Given the description of an element on the screen output the (x, y) to click on. 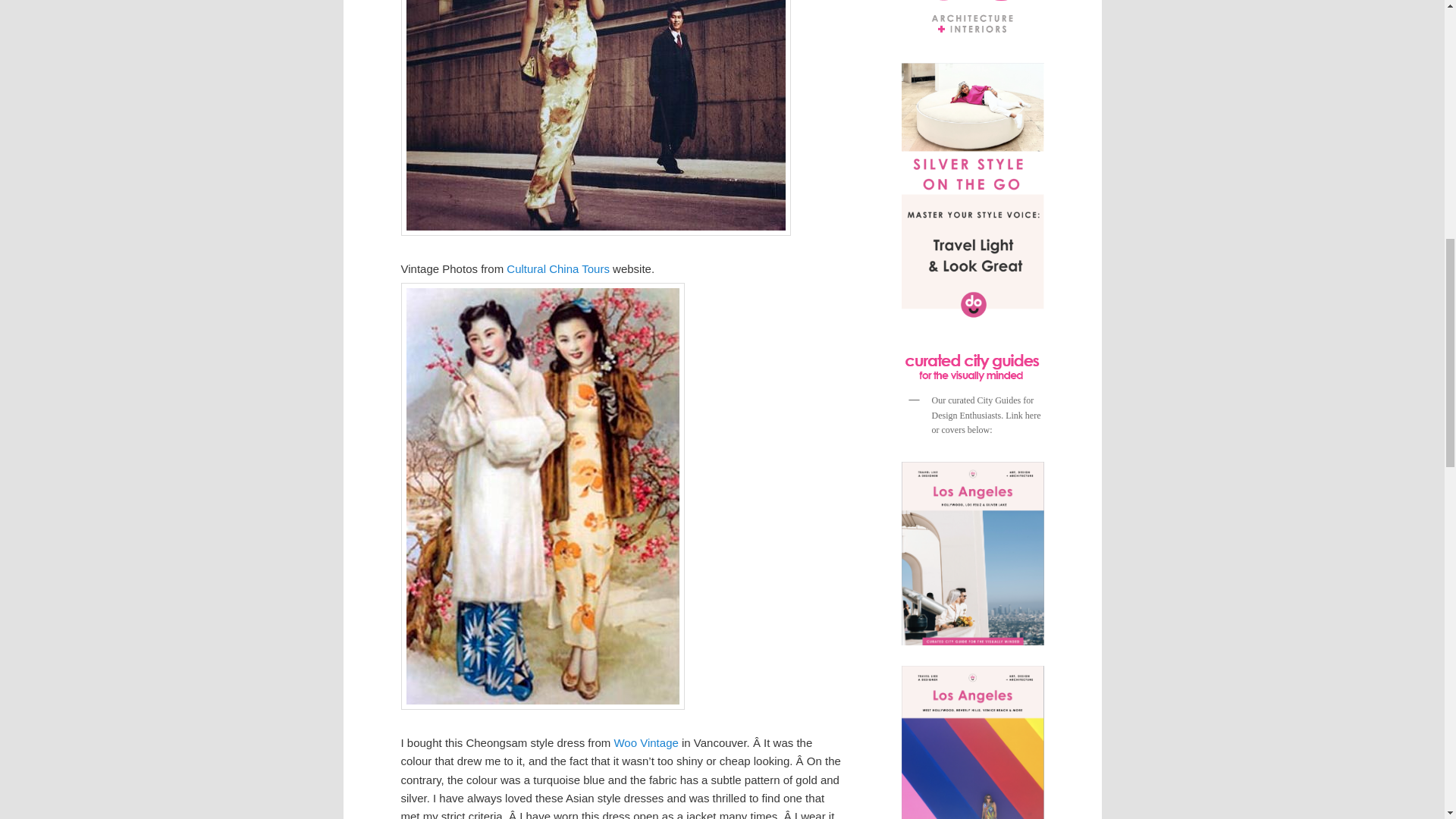
200912011117212062 (595, 117)
Woo Vintage (645, 742)
Cultural China Tours (558, 268)
